Given the description of an element on the screen output the (x, y) to click on. 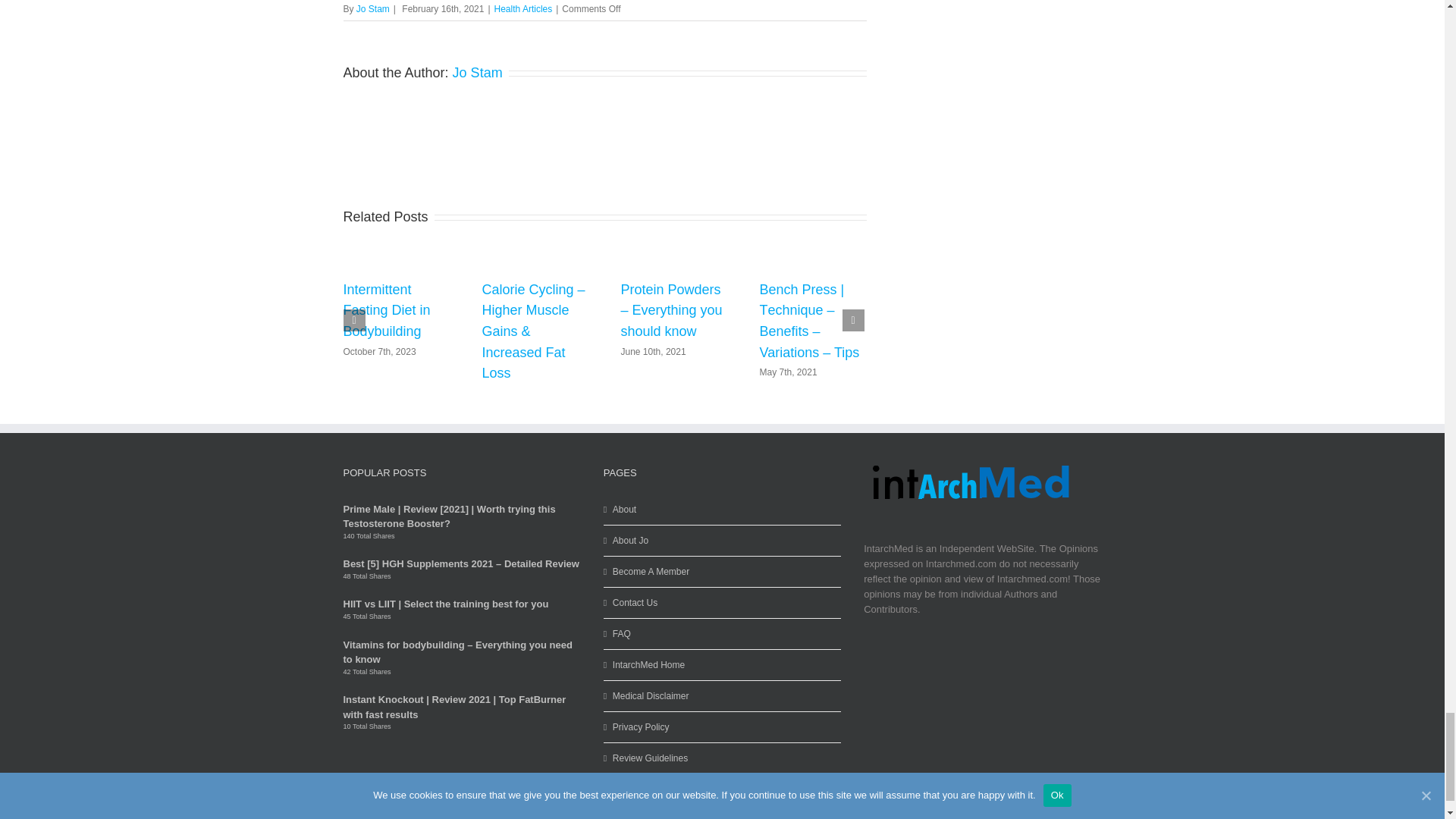
Posts by Jo Stam (373, 9)
Posts by Jo Stam (477, 72)
